Given the description of an element on the screen output the (x, y) to click on. 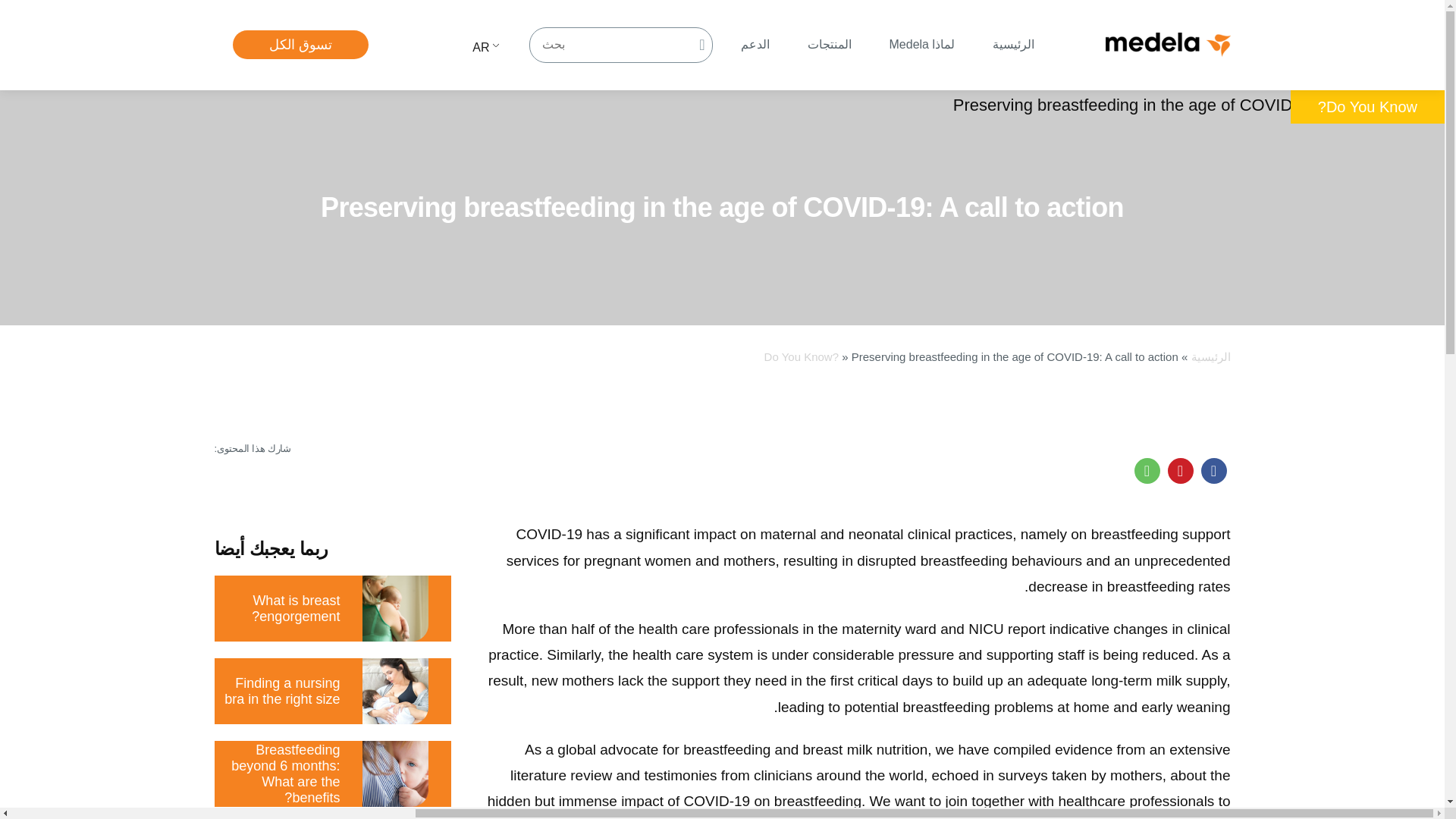
Arabic (470, 47)
AR (470, 47)
